Given the description of an element on the screen output the (x, y) to click on. 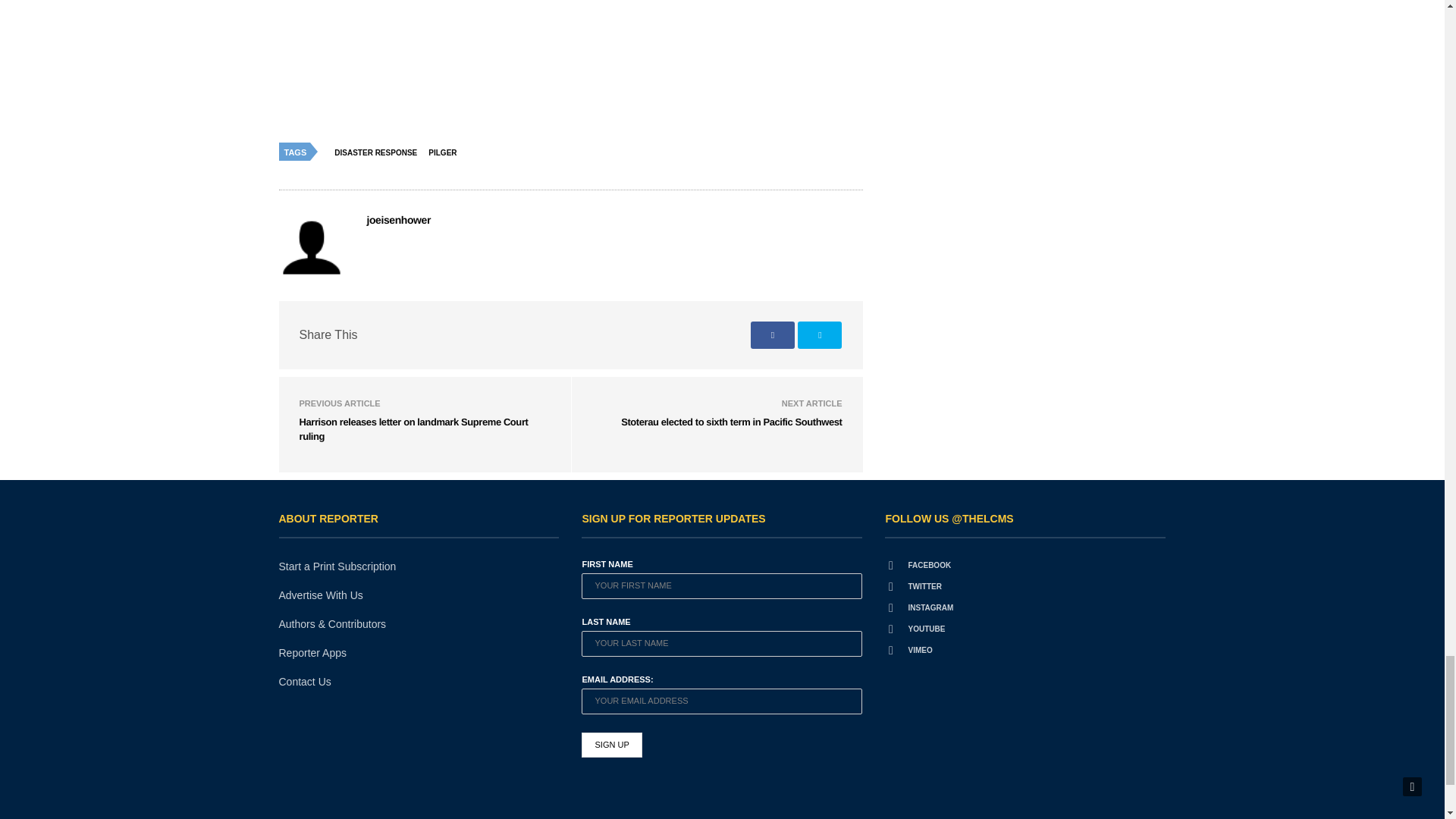
Sign up (611, 745)
Harrison releases letter on landmark Supreme Court ruling (412, 429)
Stoterau elected to sixth term in Pacific Southwest (731, 421)
